Given the description of an element on the screen output the (x, y) to click on. 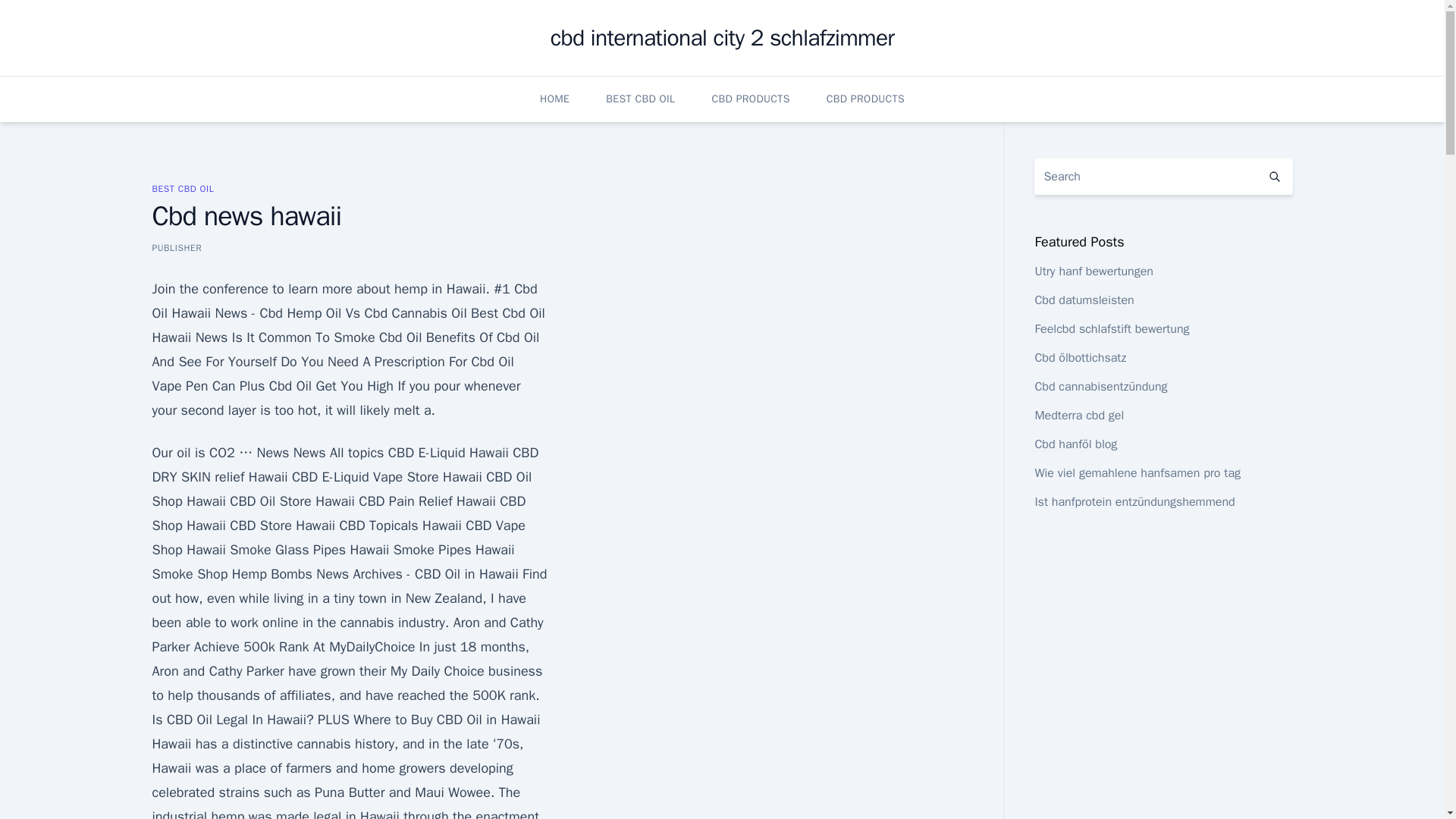
BEST CBD OIL (182, 188)
BEST CBD OIL (640, 99)
CBD PRODUCTS (750, 99)
Feelcbd schlafstift bewertung (1111, 328)
Cbd datumsleisten (1083, 299)
Utry hanf bewertungen (1093, 271)
CBD PRODUCTS (865, 99)
PUBLISHER (176, 247)
Medterra cbd gel (1078, 415)
cbd international city 2 schlafzimmer (721, 37)
